Given the description of an element on the screen output the (x, y) to click on. 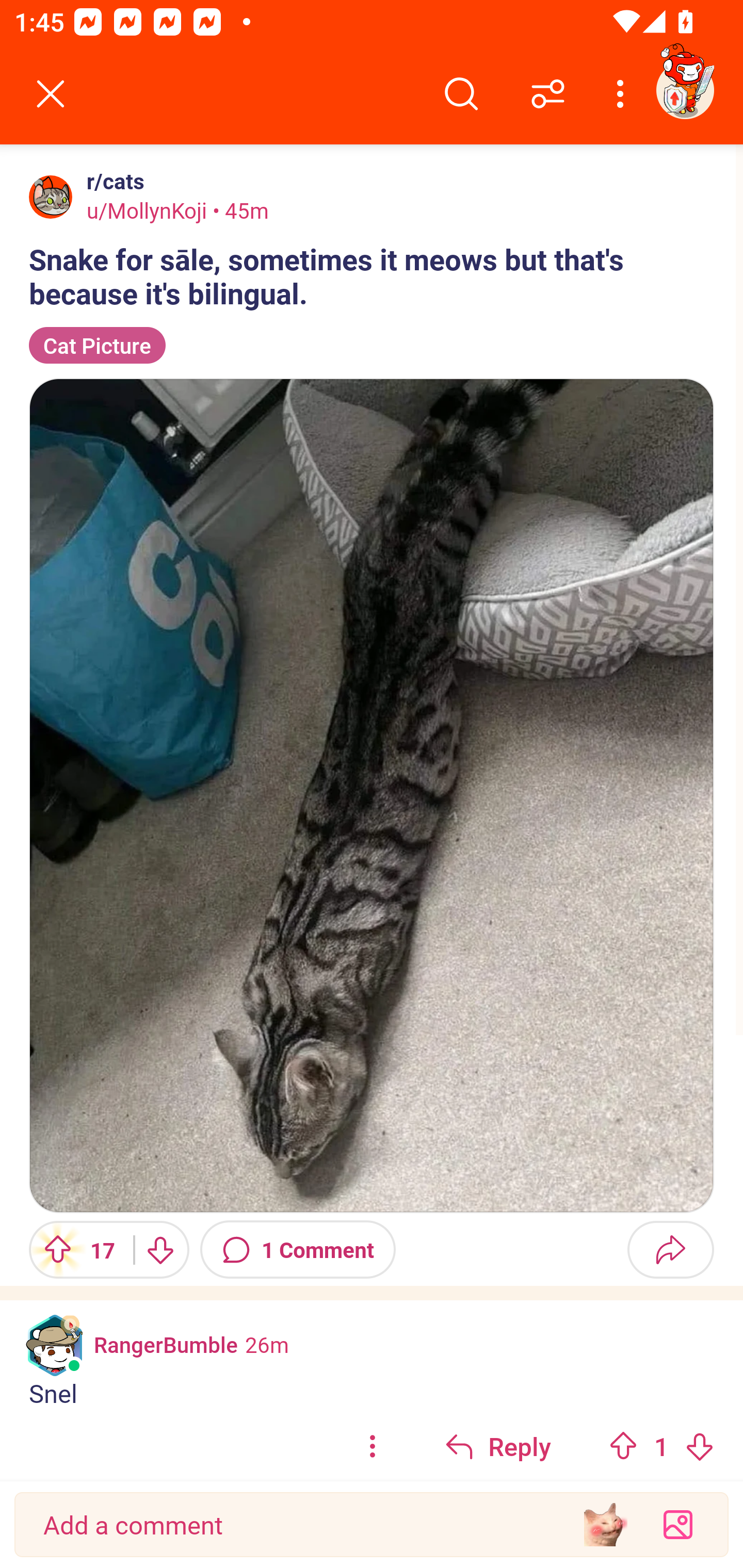
Back (50, 93)
TestAppium002 account (685, 90)
Search comments (460, 93)
Sort comments (547, 93)
More options (623, 93)
r/cats (111, 181)
Avatar (50, 196)
u/MollynKoji (146, 210)
Cat Picture (96, 345)
Image (371, 795)
Upvote 17 (73, 1249)
Downvote (158, 1249)
1 Comment (297, 1249)
Share (670, 1249)
26m (267, 1344)
Snel (371, 1392)
options (372, 1445)
Reply (498, 1445)
